Given the description of an element on the screen output the (x, y) to click on. 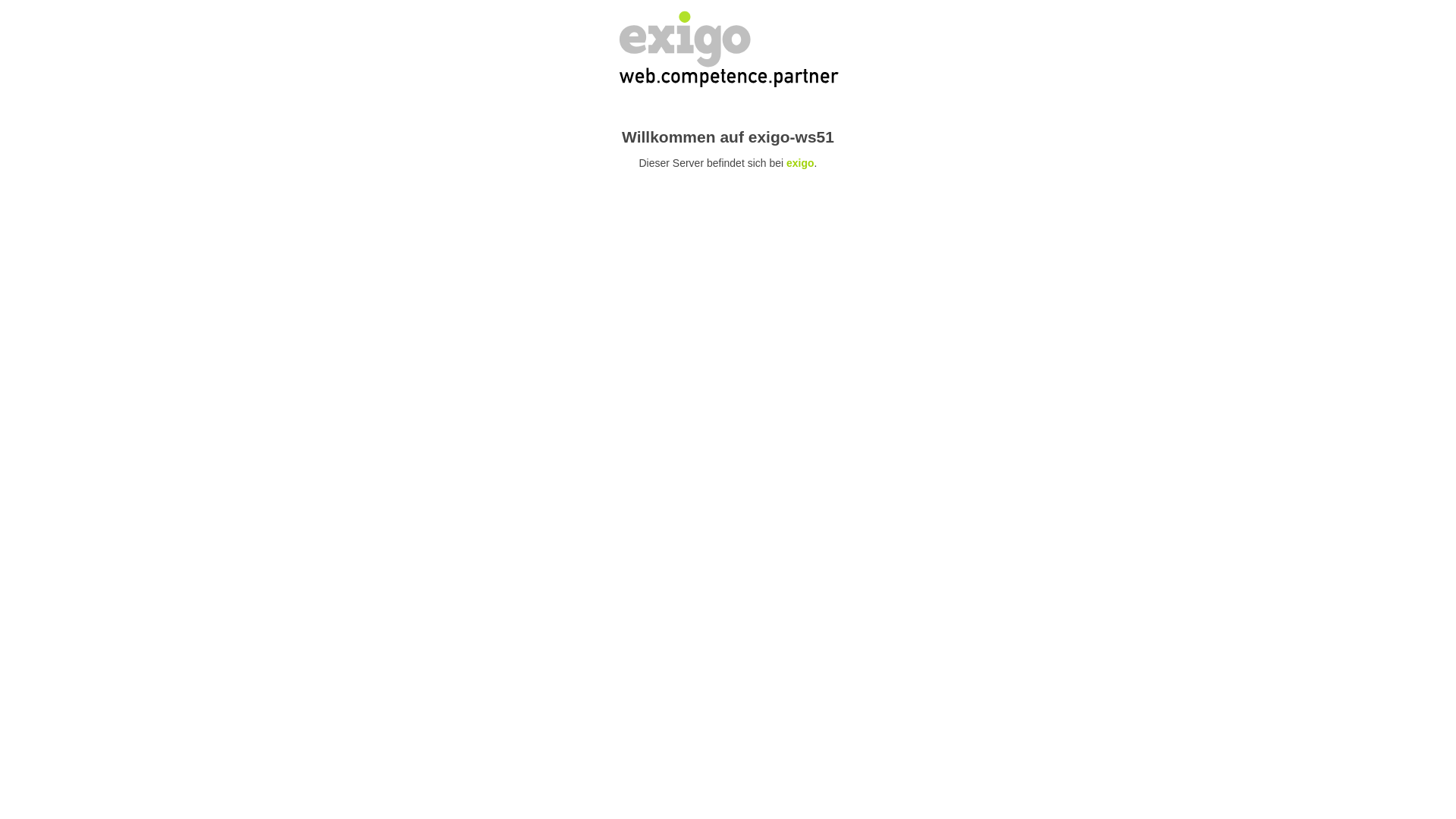
exigo Element type: text (800, 162)
